Given the description of an element on the screen output the (x, y) to click on. 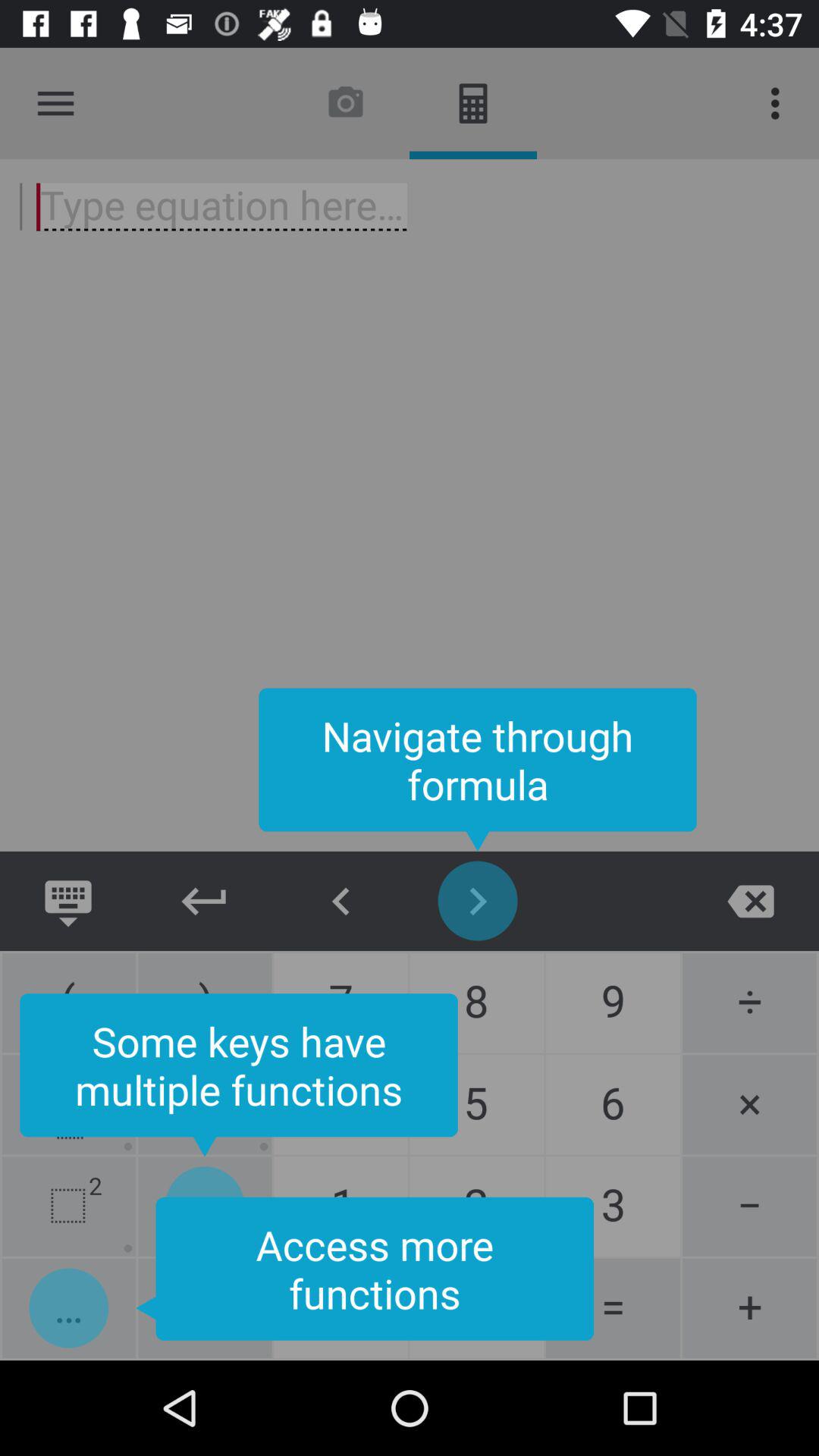
go to back (341, 900)
